Given the description of an element on the screen output the (x, y) to click on. 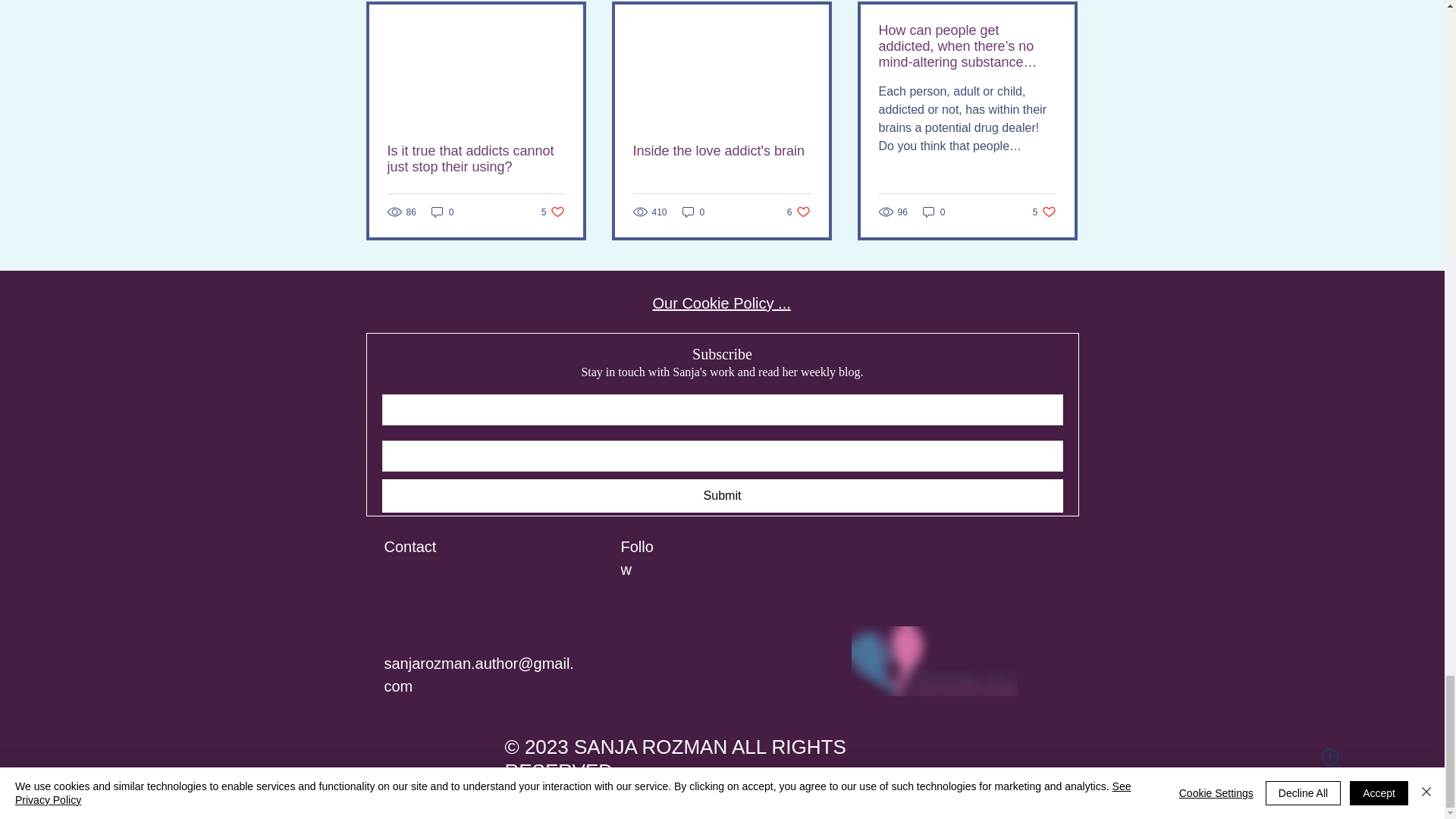
0 (442, 211)
Is it true that addicts cannot just stop their using? (552, 211)
